Given the description of an element on the screen output the (x, y) to click on. 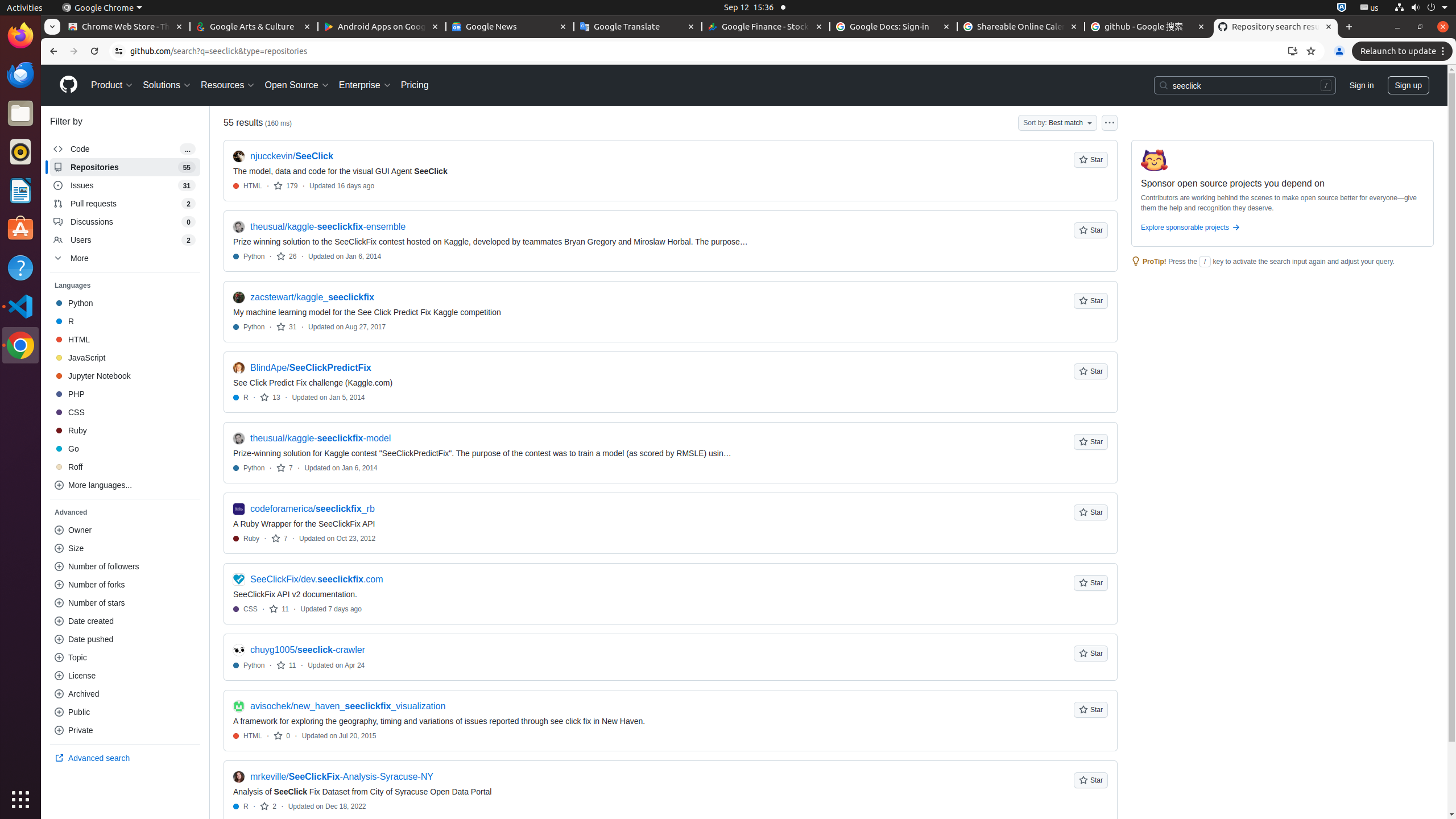
Forward Element type: push-button (73, 50)
Draggable pane splitter Element type: slider (209, 462)
Files Element type: push-button (20, 113)
0 stars Element type: link (281, 735)
Sign up Element type: link (1408, 85)
